Given the description of an element on the screen output the (x, y) to click on. 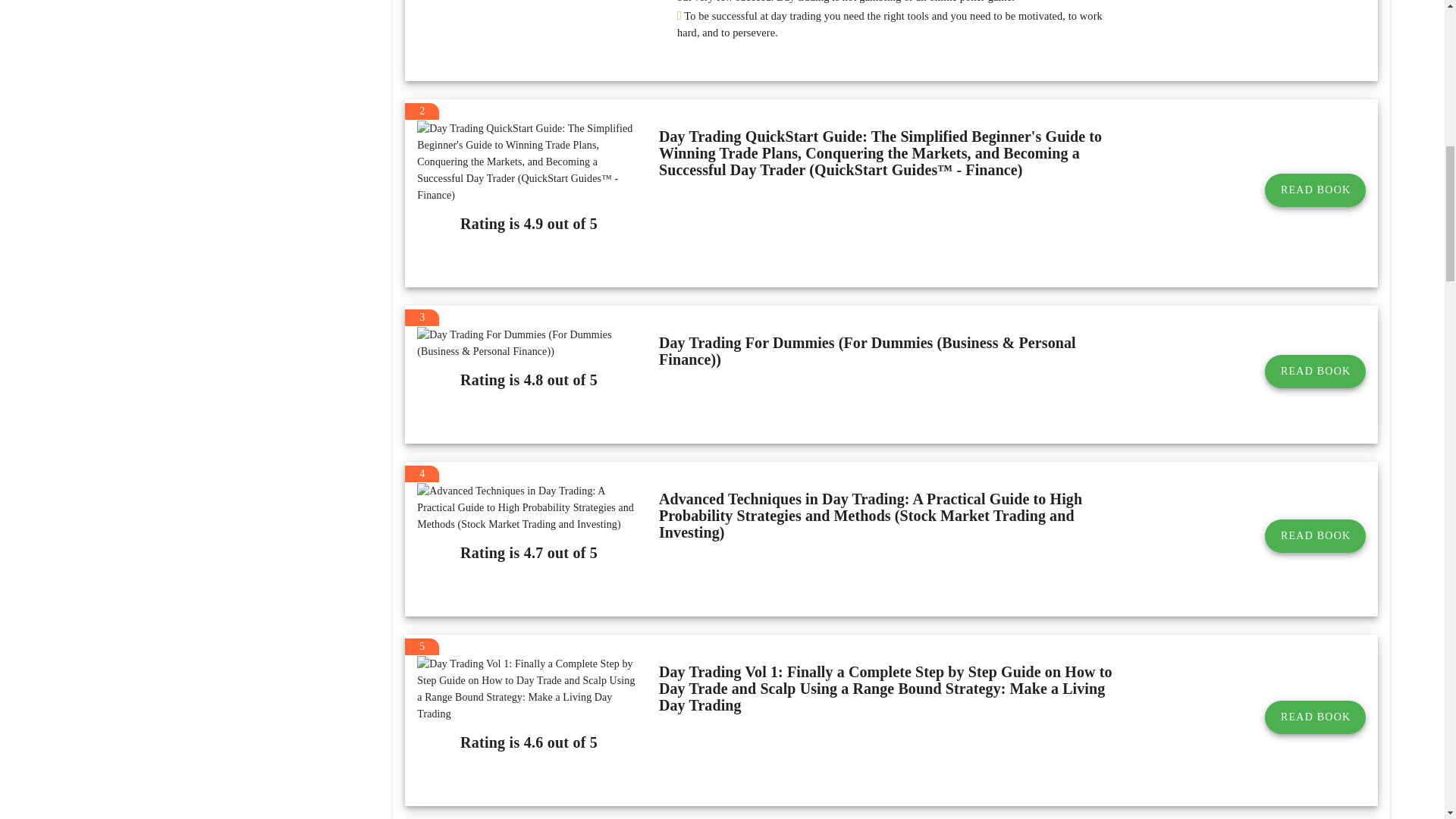
READ BOOK (1315, 717)
READ BOOK (1315, 371)
READ BOOK (1315, 190)
READ BOOK (1315, 535)
